Given the description of an element on the screen output the (x, y) to click on. 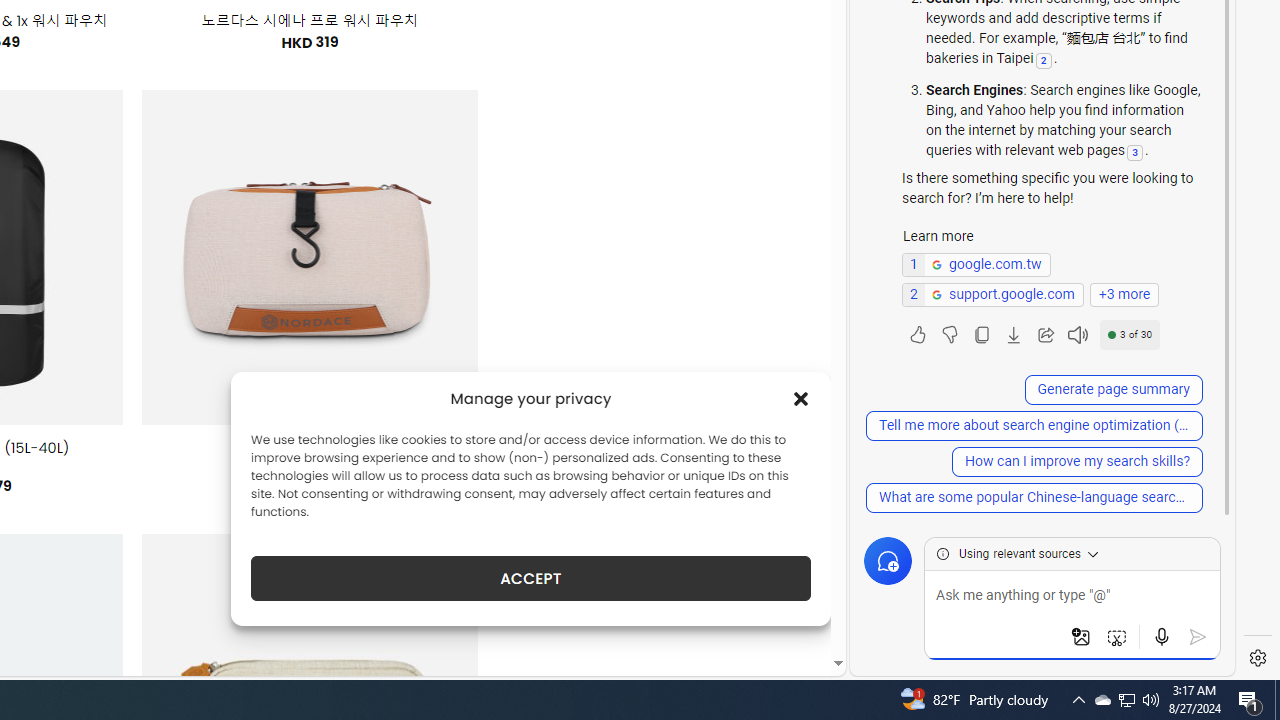
ACCEPT (530, 578)
Class: cmplz-close (801, 398)
